Given the description of an element on the screen output the (x, y) to click on. 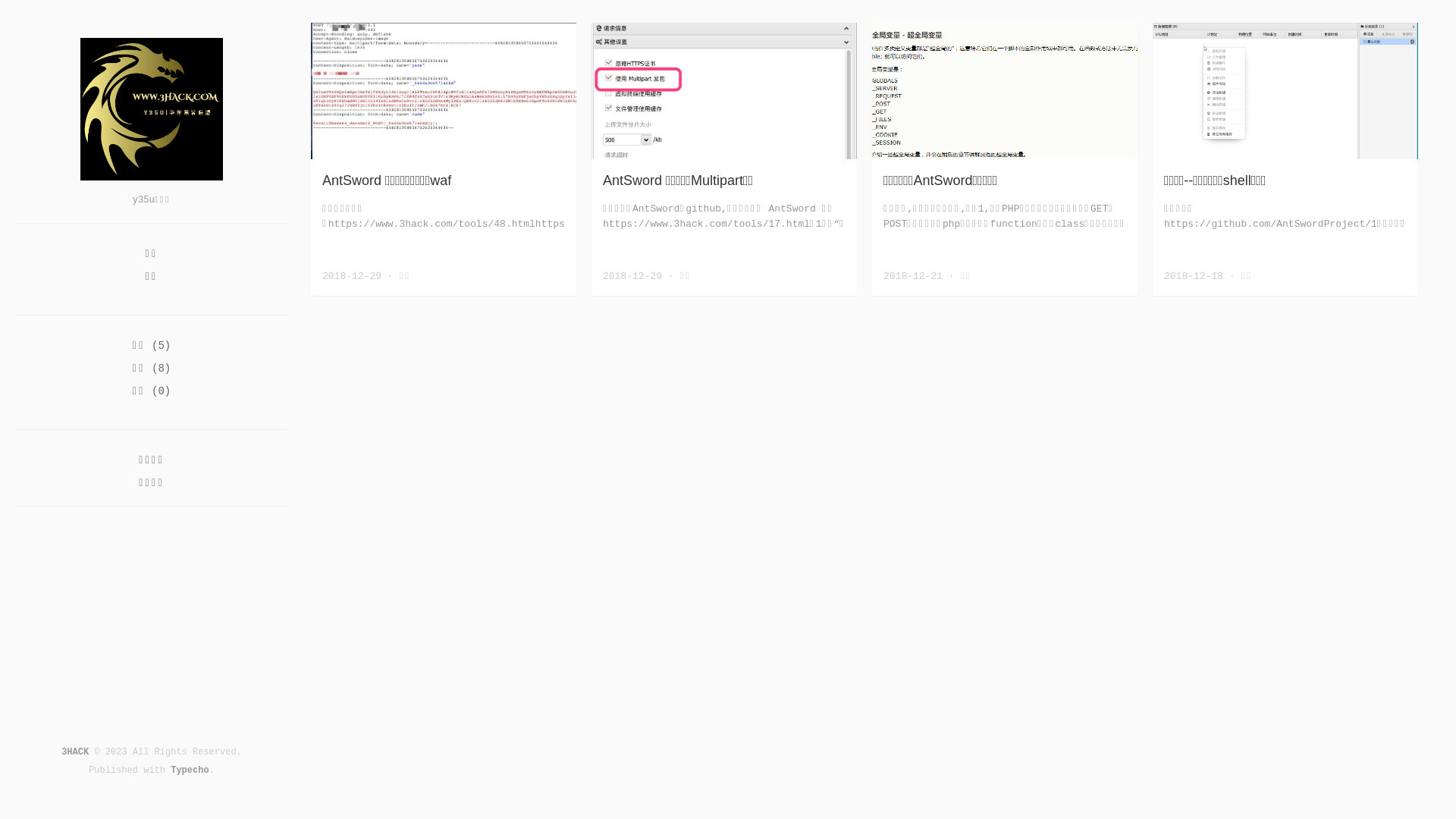
3HACK Element type: text (74, 751)
Typecho Element type: text (189, 770)
